Given the description of an element on the screen output the (x, y) to click on. 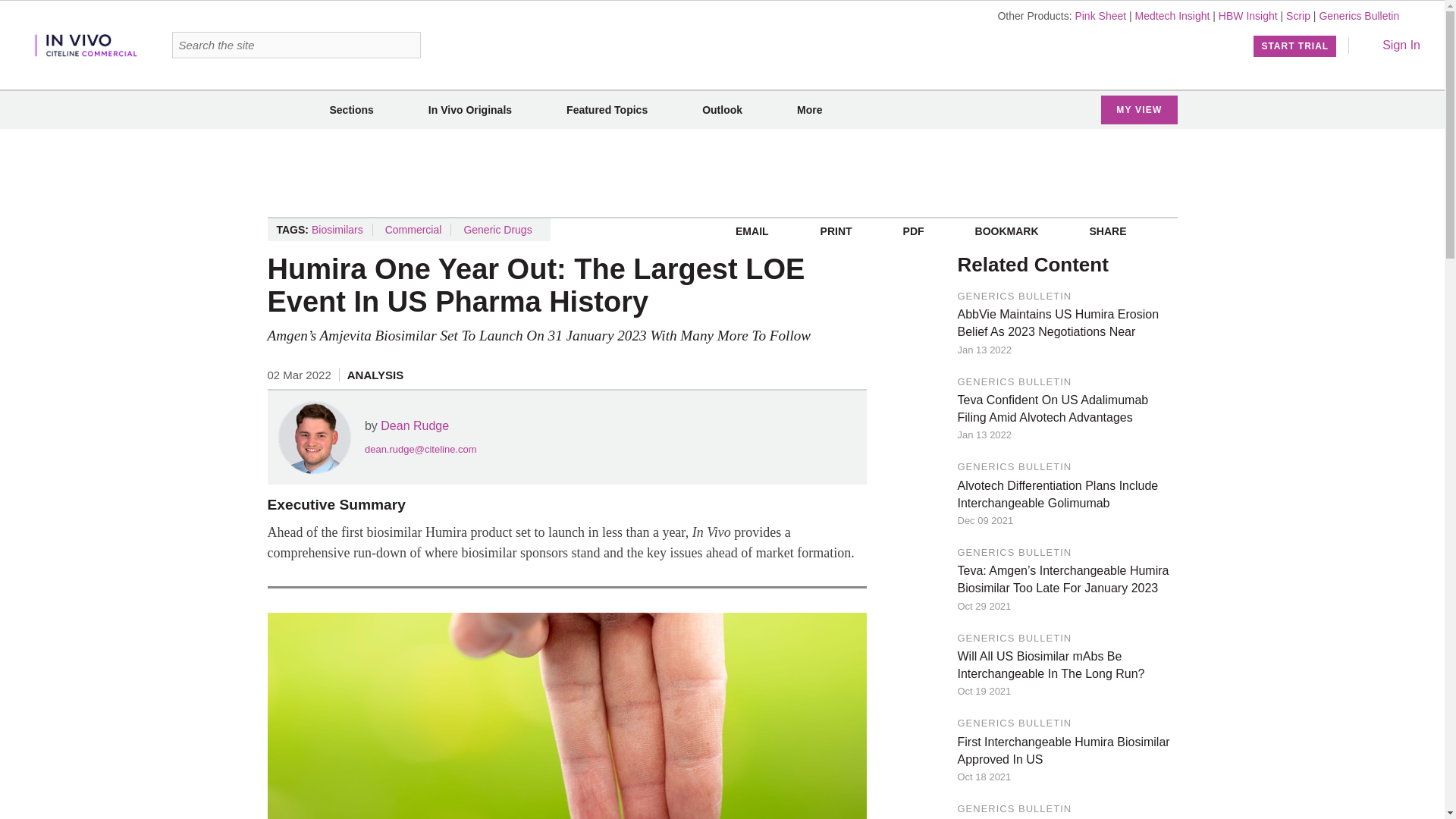
Outlook (721, 110)
Sign In (1391, 44)
START TRIAL (1294, 46)
Pink Sheet (1099, 15)
Scrip (1297, 15)
3rd party ad content (721, 172)
HBW Insight (1248, 15)
Medtech Insight (1172, 15)
Generics Bulletin (1359, 15)
